Given the description of an element on the screen output the (x, y) to click on. 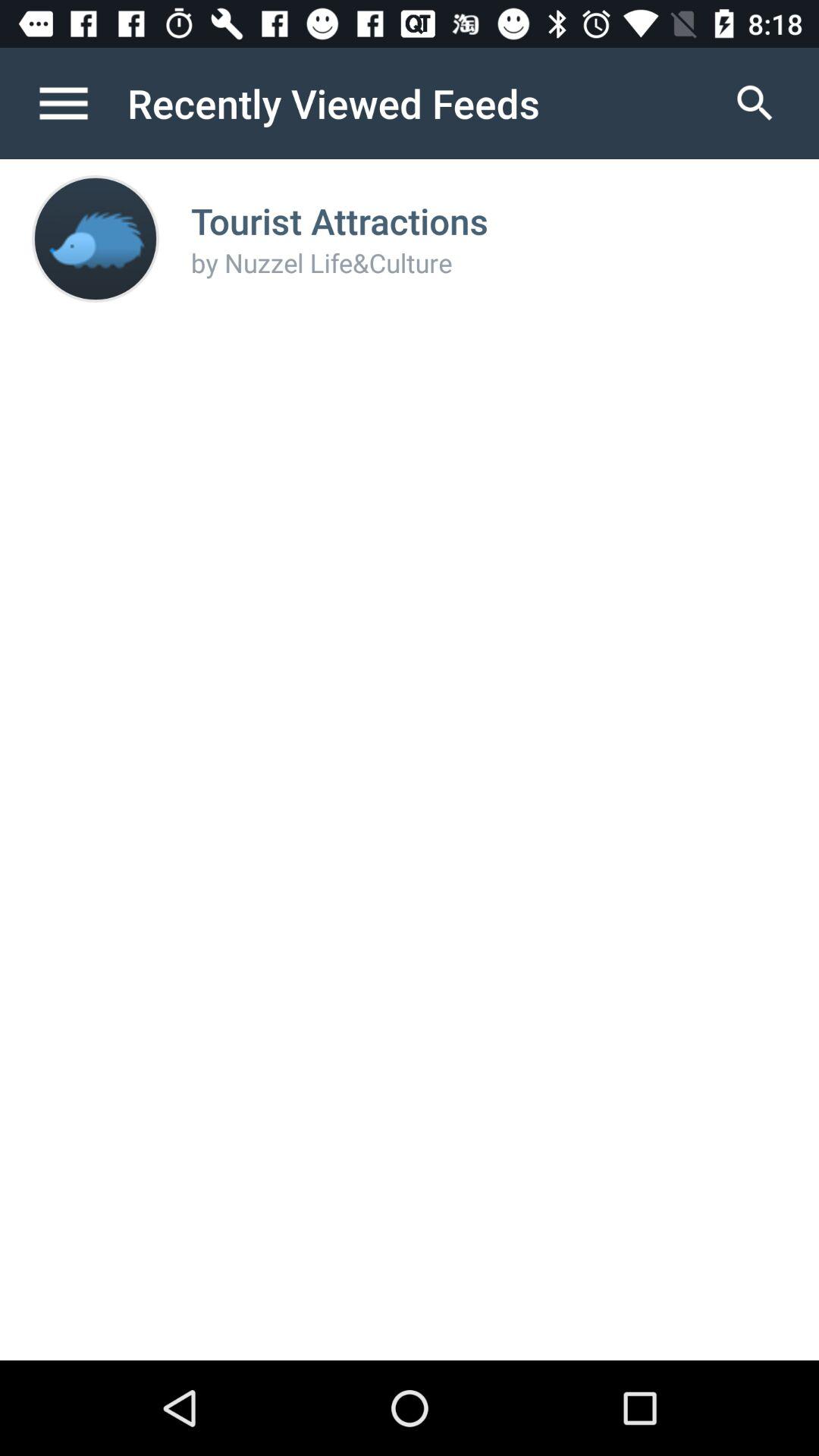
click the icon next to recently viewed feeds (755, 103)
